Given the description of an element on the screen output the (x, y) to click on. 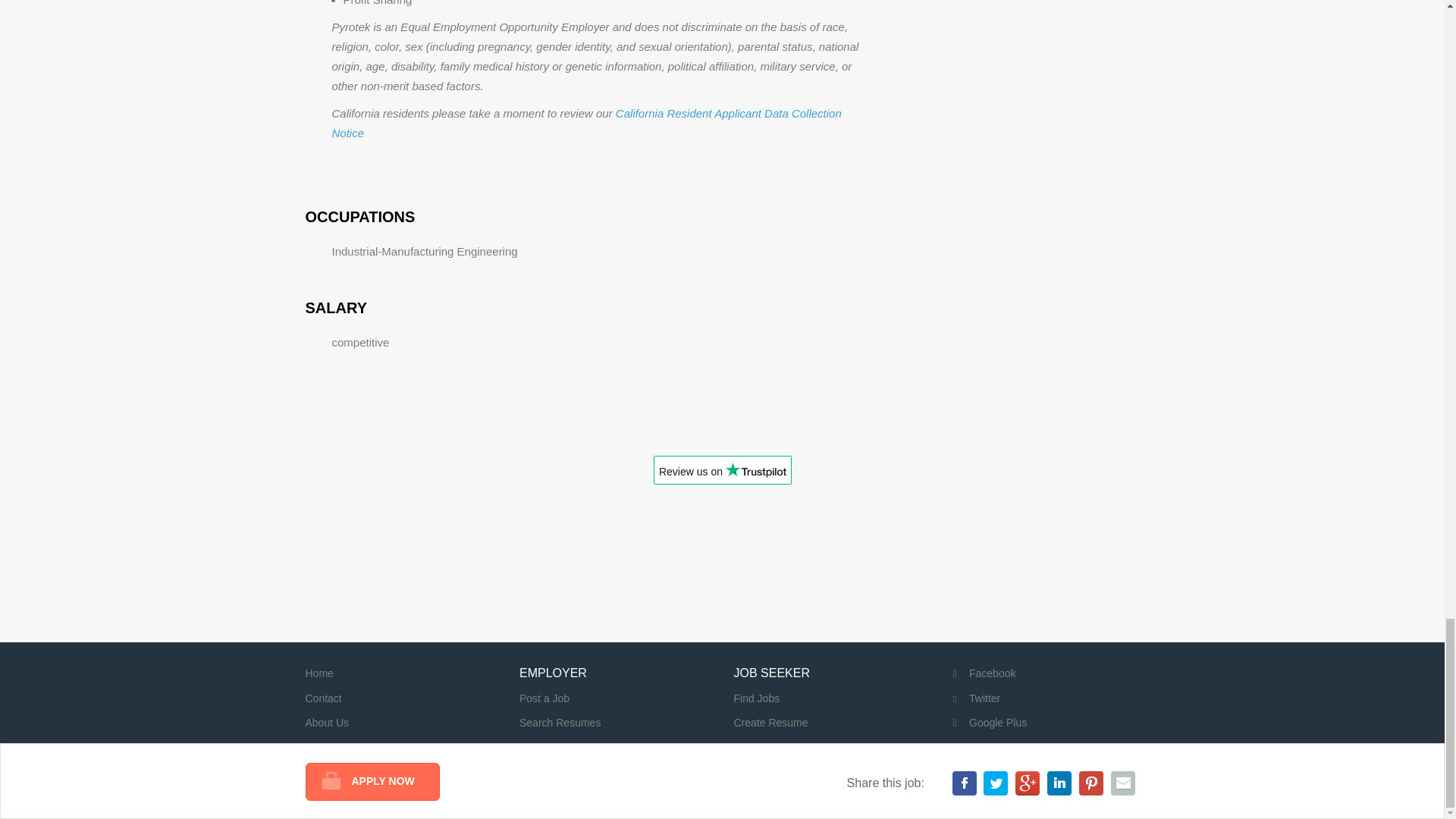
Sign in (750, 747)
Create Resume (770, 722)
Find Jobs (756, 697)
Customer reviews powered by Trustpilot (721, 475)
Facebook (980, 673)
Twitter (973, 697)
Post a Job (544, 697)
Sign in (535, 747)
Contact (322, 697)
California Resident Applicant Data Collection Notice (586, 123)
Google Plus (986, 722)
Search Resumes (559, 722)
Home (318, 673)
LinkedIn (978, 747)
About Us (326, 722)
